Given the description of an element on the screen output the (x, y) to click on. 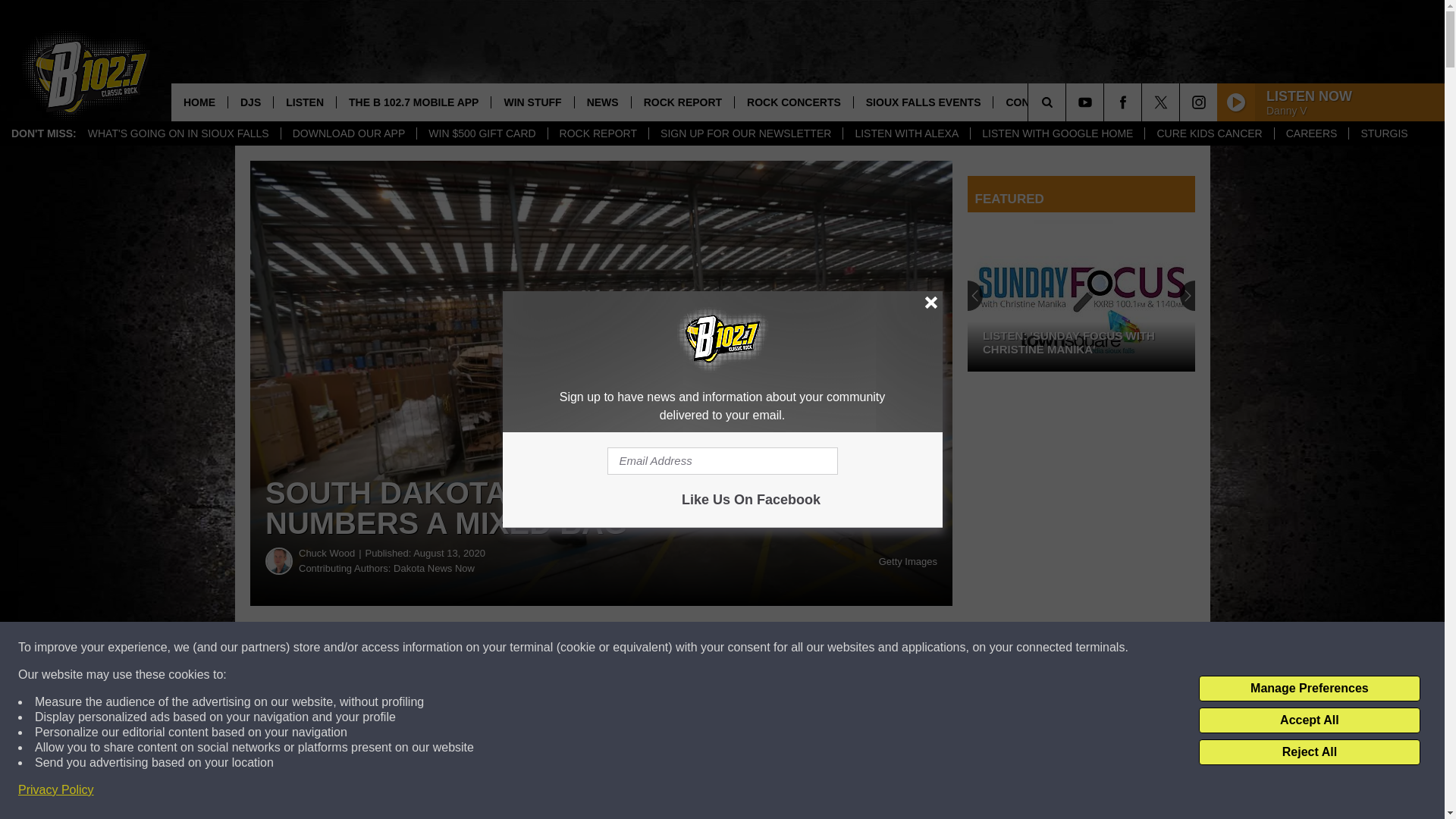
Email Address (722, 461)
SIGN UP FOR OUR NEWSLETTER (745, 133)
LISTEN WITH GOOGLE HOME (1056, 133)
Share on Facebook (460, 647)
SEARCH (1068, 102)
Manage Preferences (1309, 688)
Privacy Policy (55, 789)
WHAT'S GOING ON IN SIOUX FALLS (179, 133)
DJS (250, 102)
Accept All (1309, 720)
Reject All (1309, 751)
ROCK REPORT (597, 133)
Share on Twitter (741, 647)
SEARCH (1068, 102)
LISTEN WITH ALEXA (906, 133)
